Given the description of an element on the screen output the (x, y) to click on. 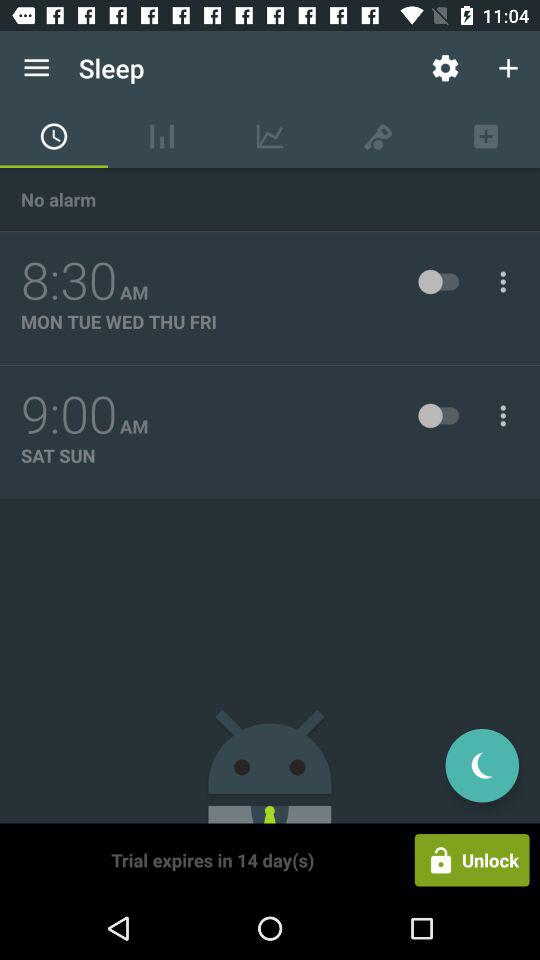
click the item above mon tue wed item (69, 281)
